Given the description of an element on the screen output the (x, y) to click on. 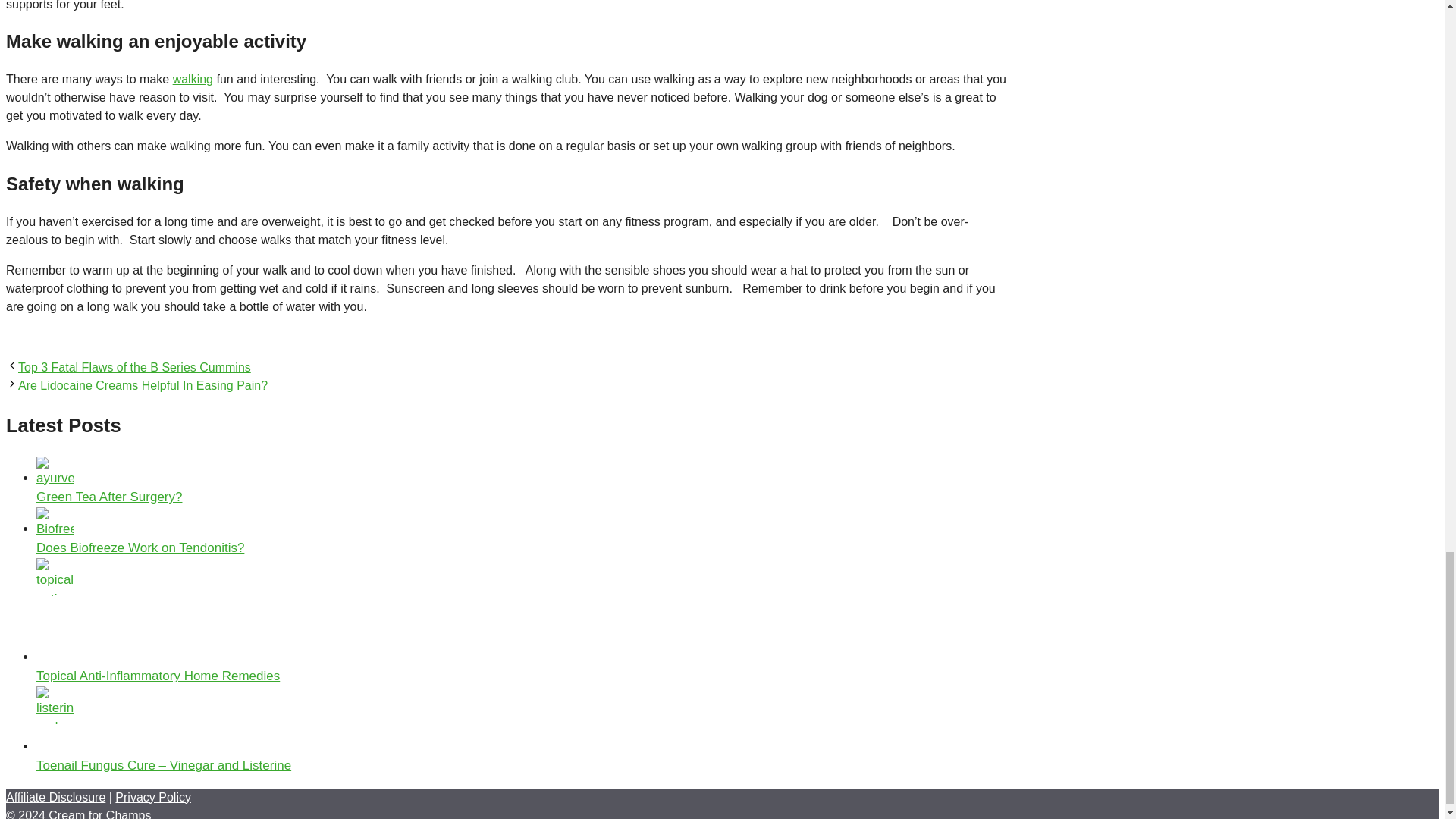
Privacy Policy (152, 797)
walking (192, 78)
Green Tea After Surgery? (109, 496)
Topical Anti-Inflammatory Home Remedies (157, 676)
Top 3 Fatal Flaws of the B Series Cummins (133, 367)
Does Biofreeze Work on Tendonitis? (140, 547)
Affiliate Disclosure (54, 797)
Are Lidocaine Creams Helpful In Easing Pain? (142, 385)
